Given the description of an element on the screen output the (x, y) to click on. 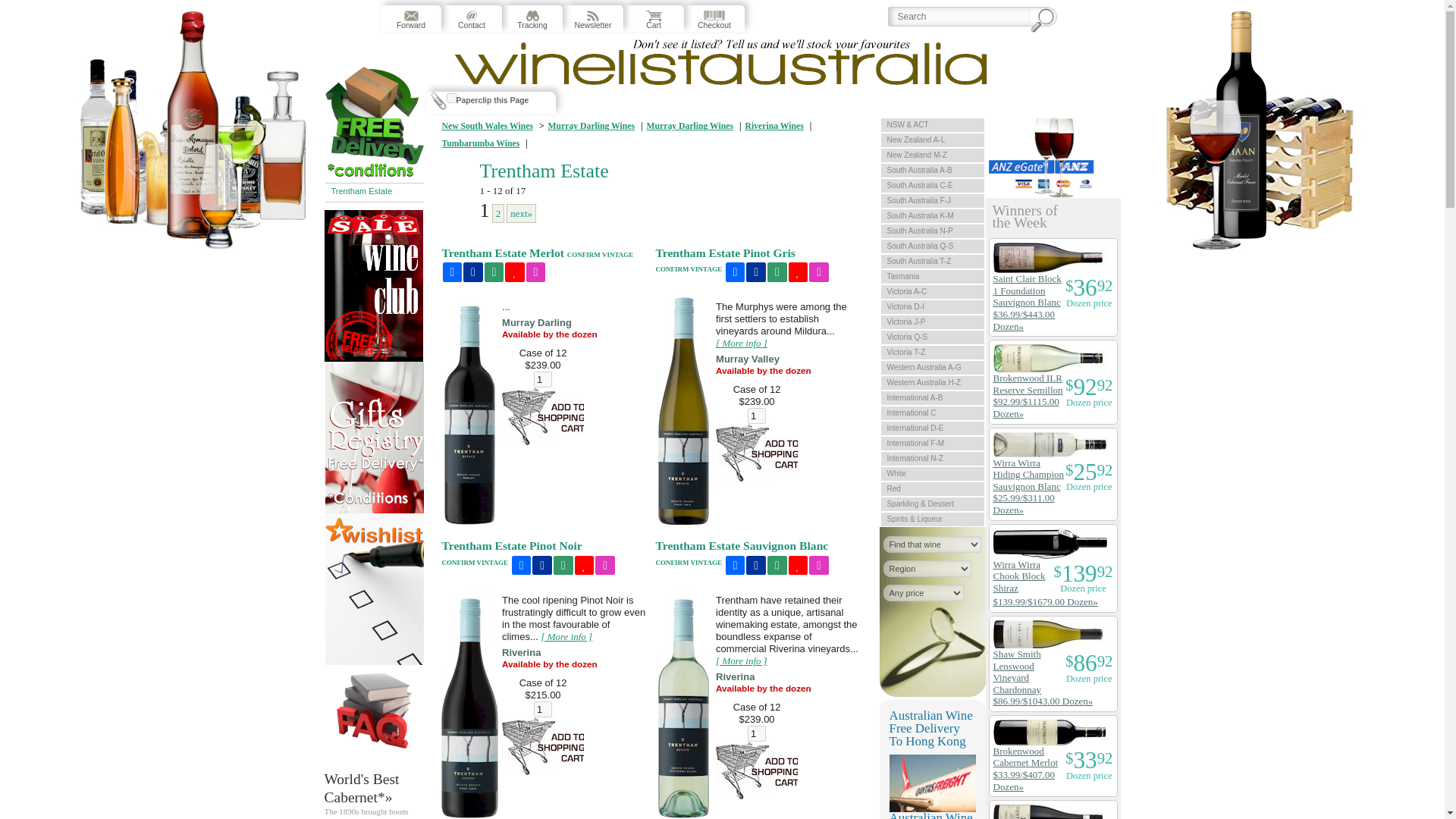
on (450, 98)
Facebook (755, 271)
Add To Cart (756, 452)
Tweet (452, 271)
Gift Registry (818, 271)
Contact (470, 17)
Forward (410, 17)
Checkout (714, 17)
Tracking (532, 17)
Gift Registry (535, 271)
